Given the description of an element on the screen output the (x, y) to click on. 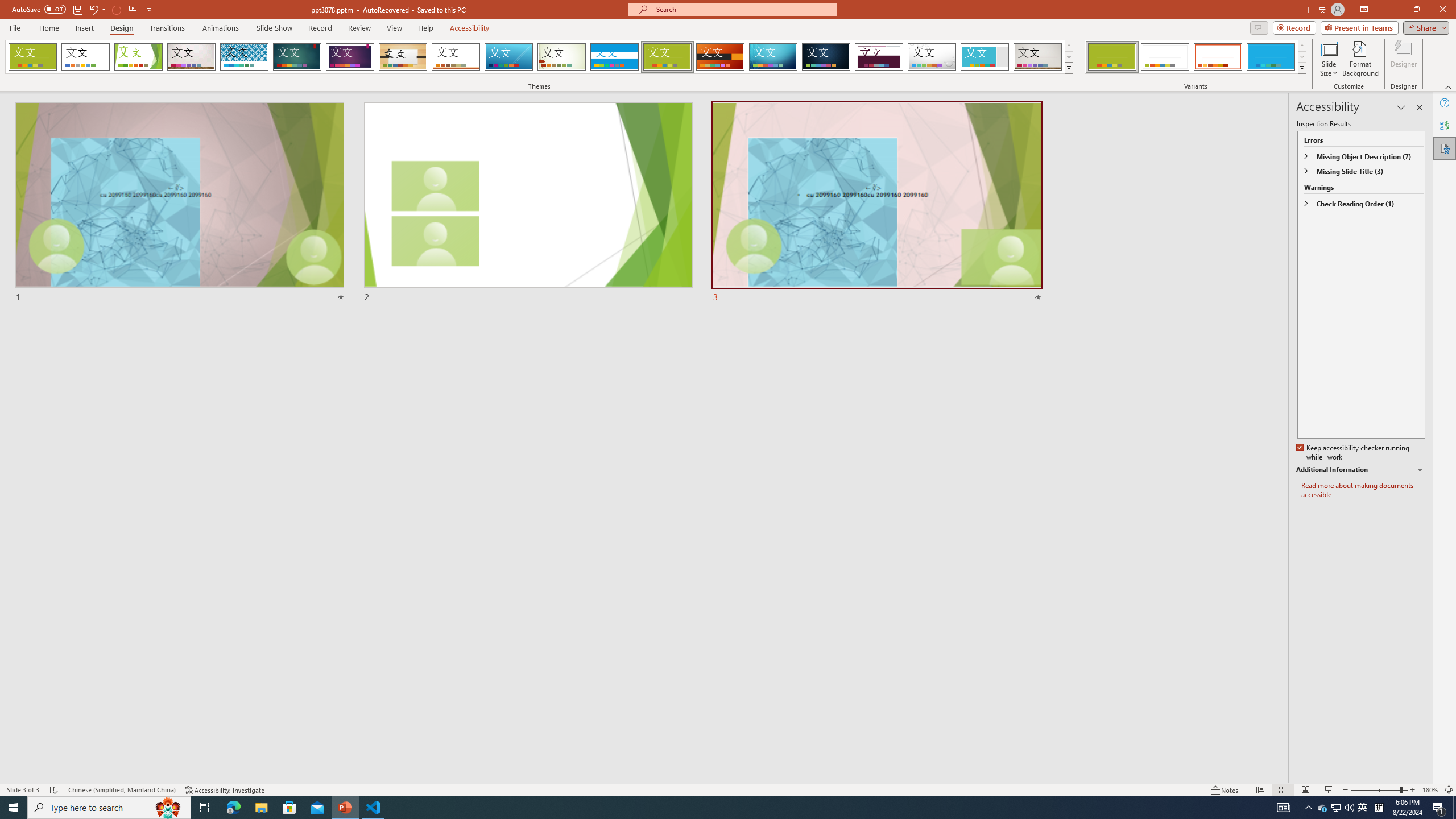
Retrospect (455, 56)
Basis Variant 1 (1112, 56)
Ion (296, 56)
Gallery (1037, 56)
Circuit (772, 56)
